Given the description of an element on the screen output the (x, y) to click on. 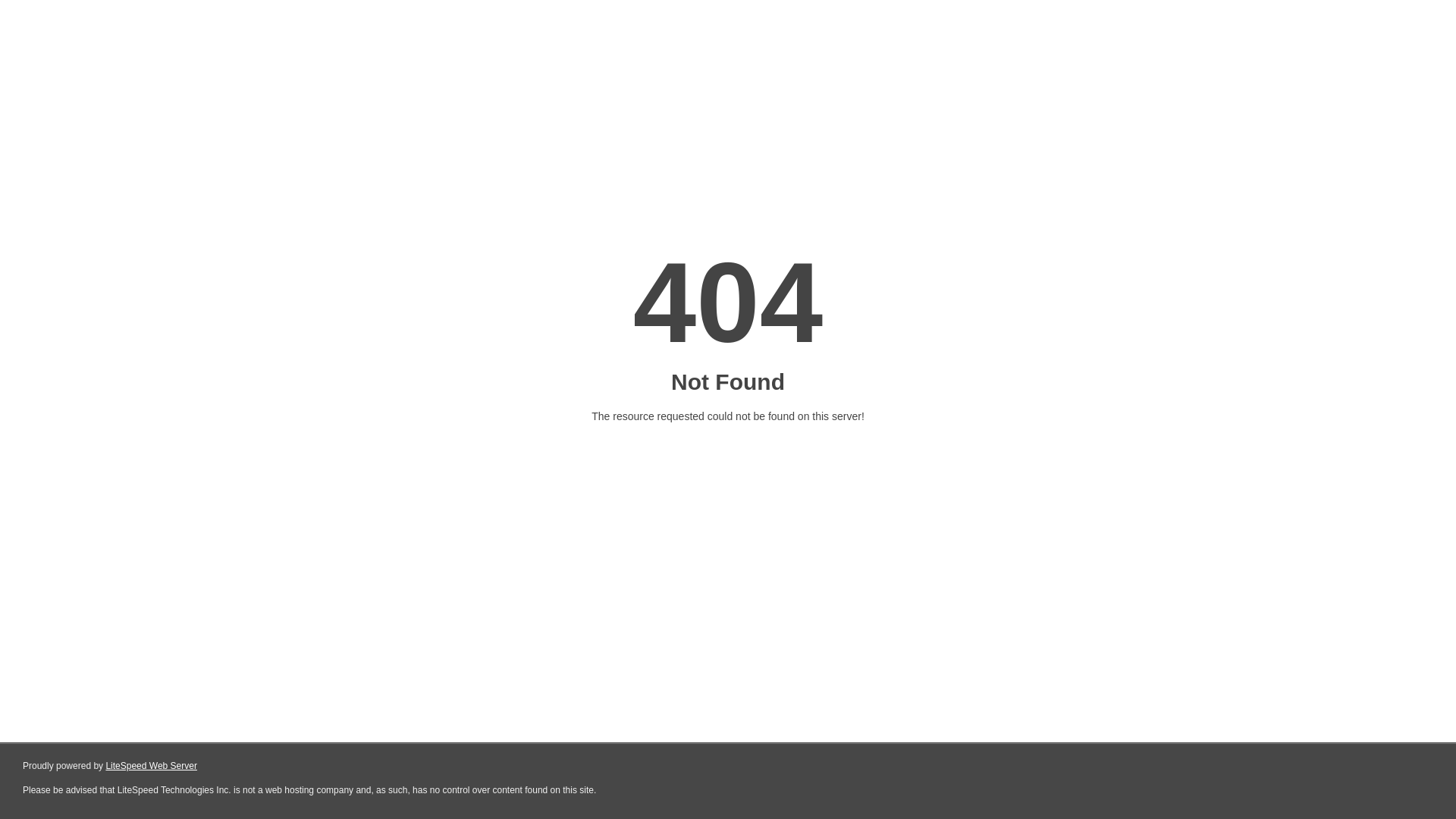
LiteSpeed Web Server Element type: text (151, 765)
